Given the description of an element on the screen output the (x, y) to click on. 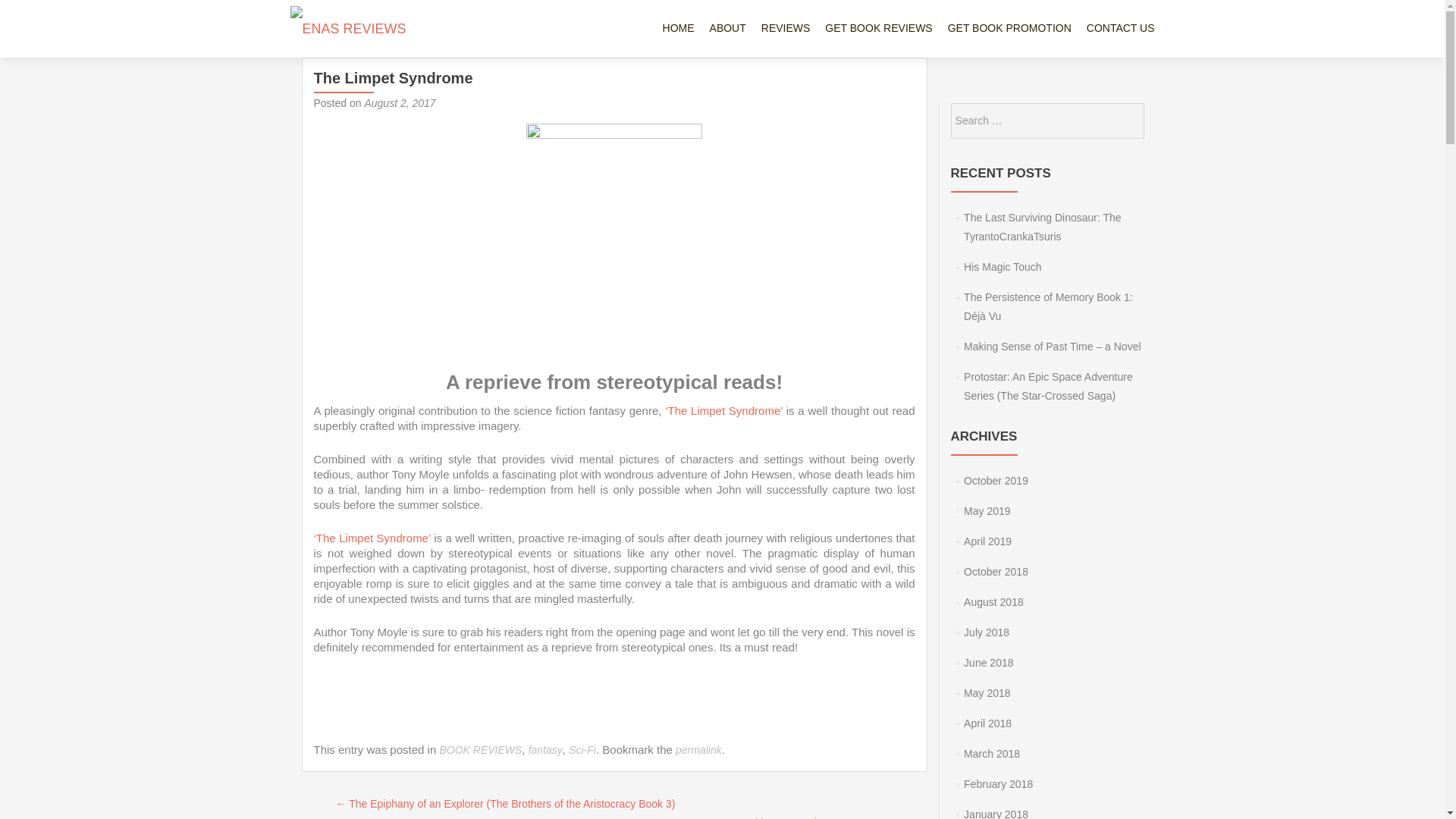
ABOUT (727, 28)
June 2018 (988, 662)
August 2, 2017 (399, 102)
GET BOOK PROMOTION (1009, 28)
October 2019 (995, 480)
BOOK REVIEWS (480, 749)
Sci-Fi (582, 749)
CONTACT US (1120, 28)
April 2018 (987, 723)
August 2018 (993, 602)
